Given the description of an element on the screen output the (x, y) to click on. 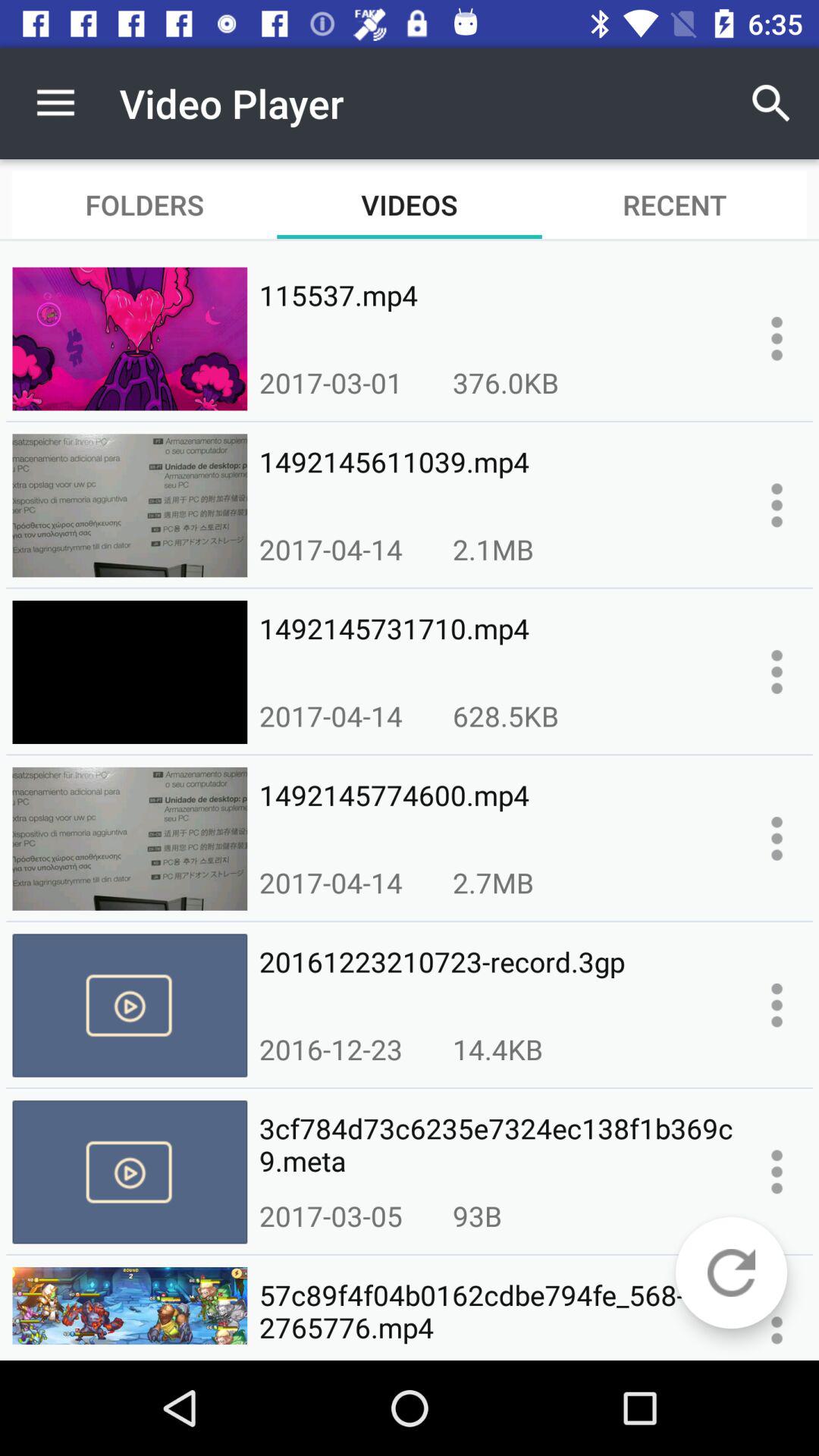
choose icon to the left of video player item (55, 103)
